Given the description of an element on the screen output the (x, y) to click on. 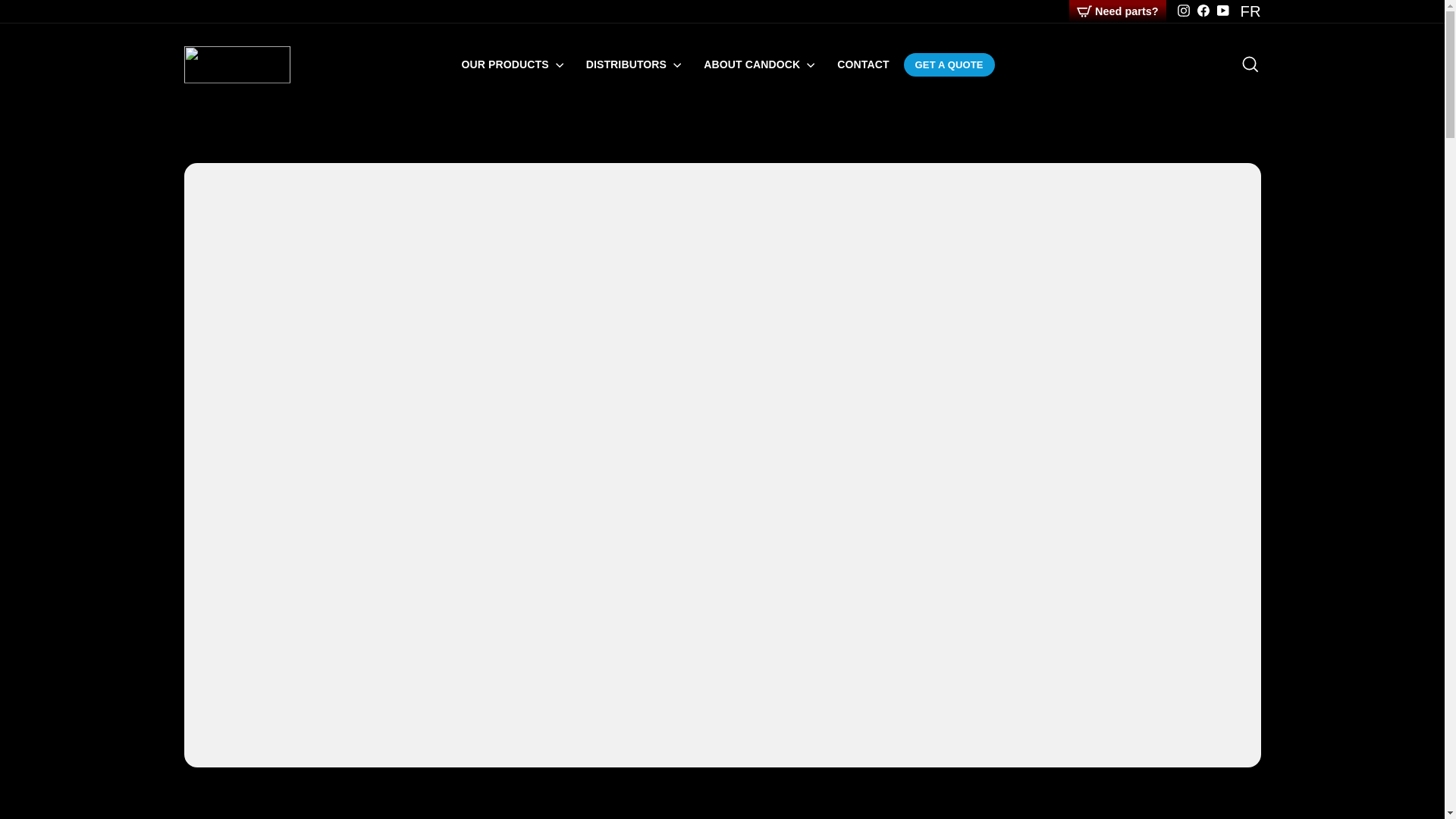
FR (1250, 11)
ICON-SEARCH (1249, 64)
instagram (1183, 10)
